Given the description of an element on the screen output the (x, y) to click on. 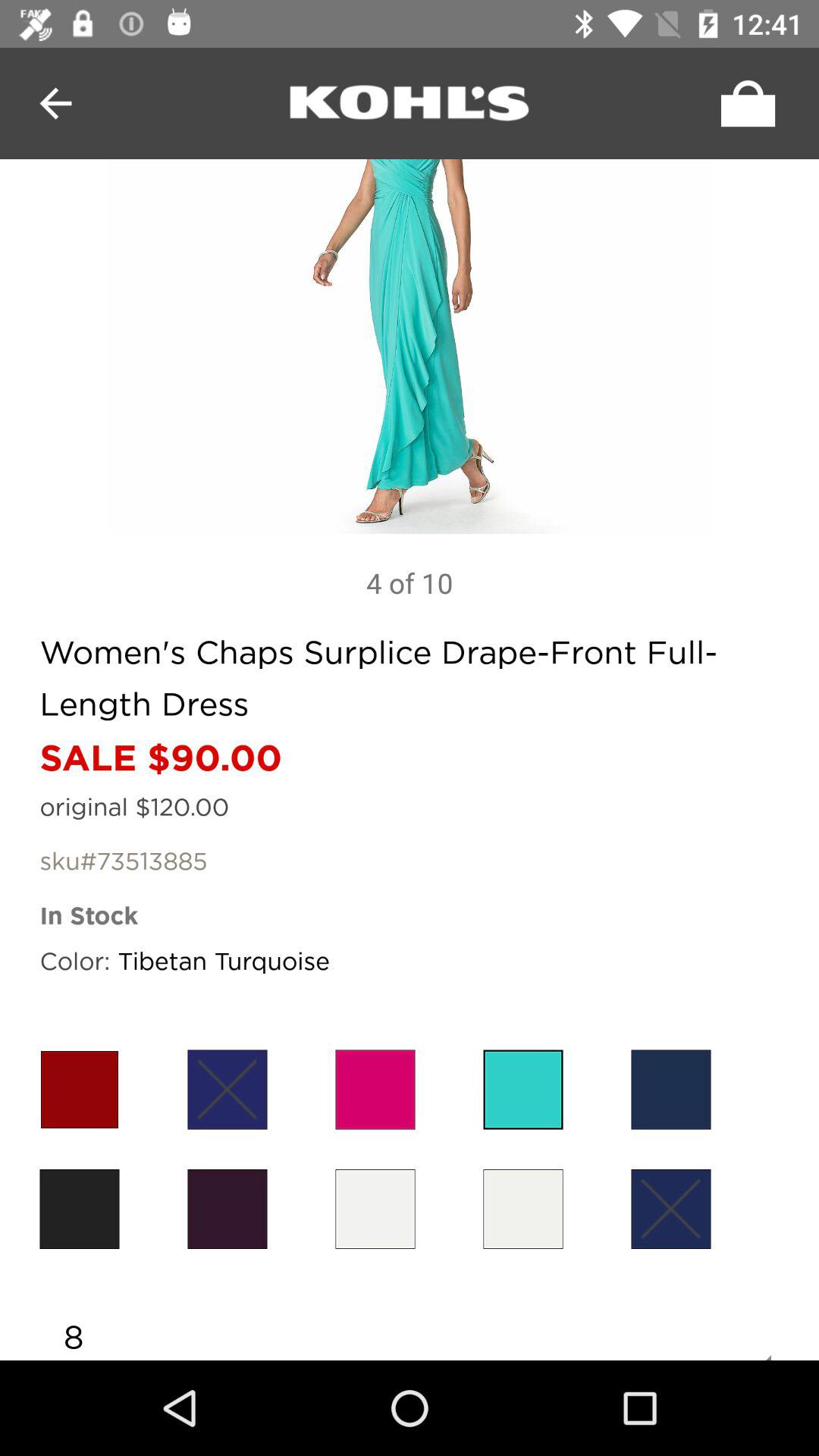
previous (55, 103)
